Given the description of an element on the screen output the (x, y) to click on. 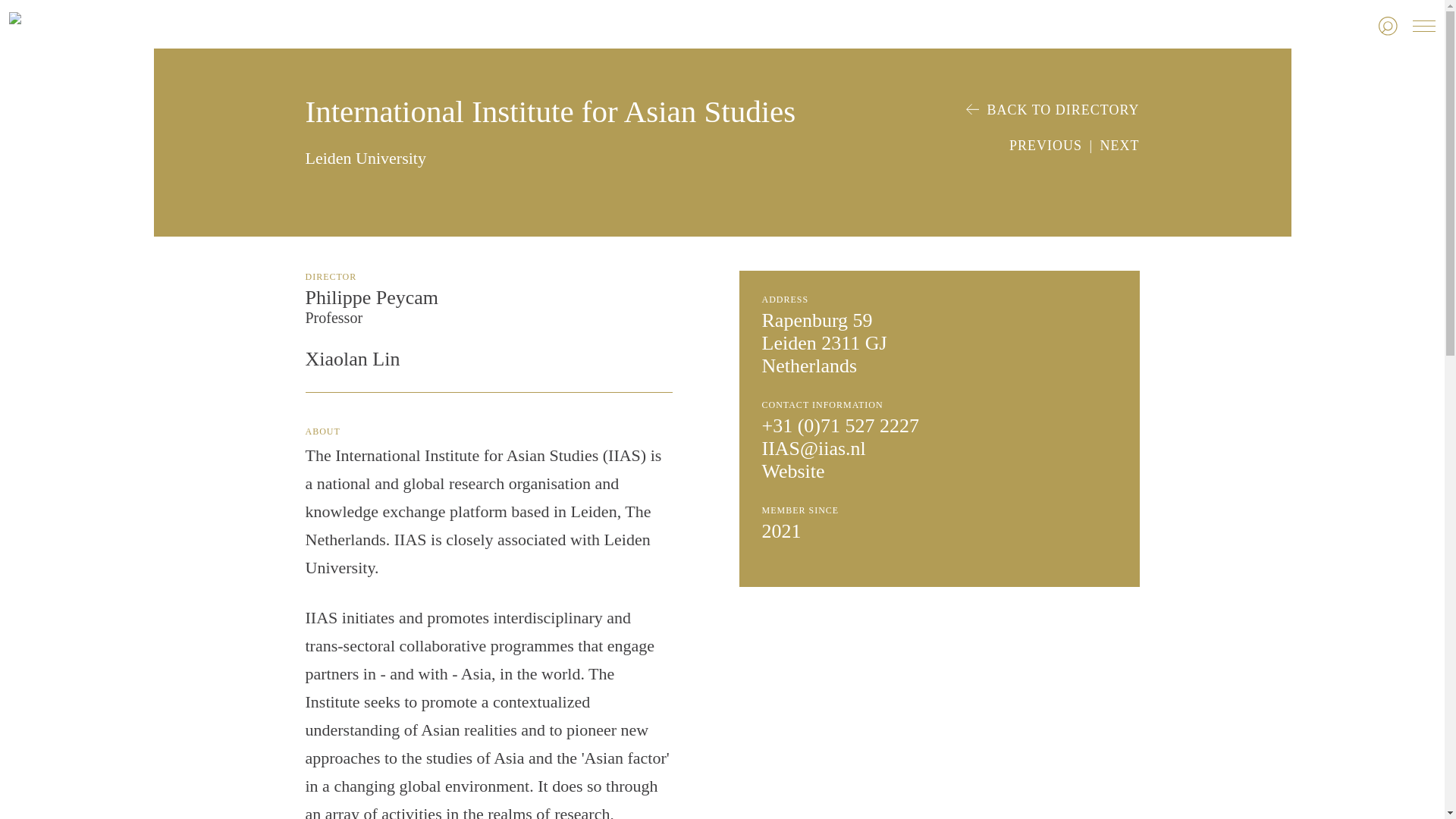
PREVIOUS (1045, 145)
NEXT (1118, 145)
BACK TO DIRECTORY (1052, 109)
Website (792, 471)
